Given the description of an element on the screen output the (x, y) to click on. 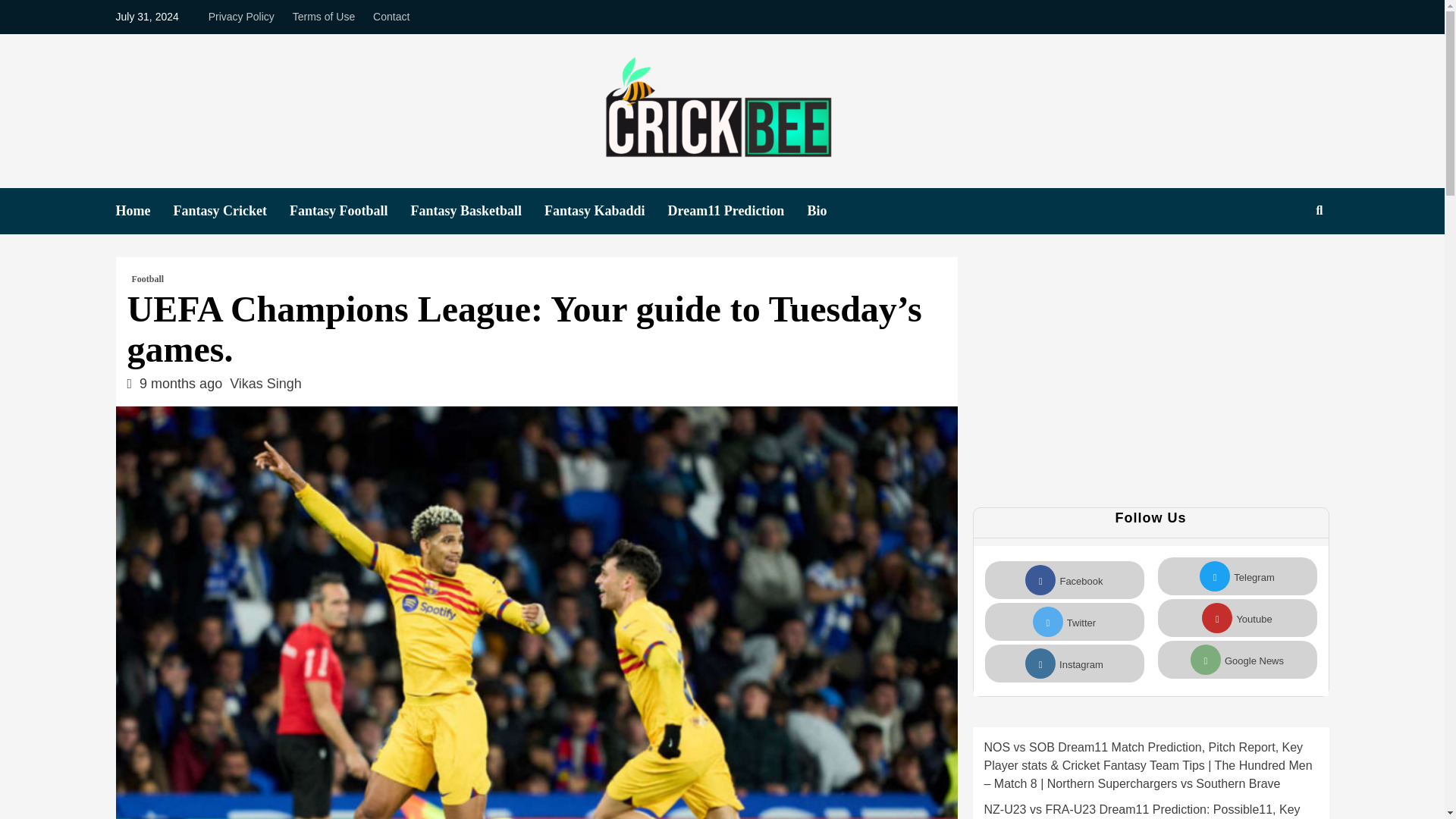
Fantasy Football (349, 211)
Bio (827, 211)
Dream11 Prediction (738, 211)
Advertisement (1104, 386)
Contact (390, 17)
Fantasy Basketball (477, 211)
Fantasy Cricket (230, 211)
Terms of Use (323, 17)
Privacy Policy (245, 17)
Football (148, 278)
Fantasy Kabaddi (606, 211)
Search (1283, 259)
Home (144, 211)
Vikas Singh (265, 383)
